Given the description of an element on the screen output the (x, y) to click on. 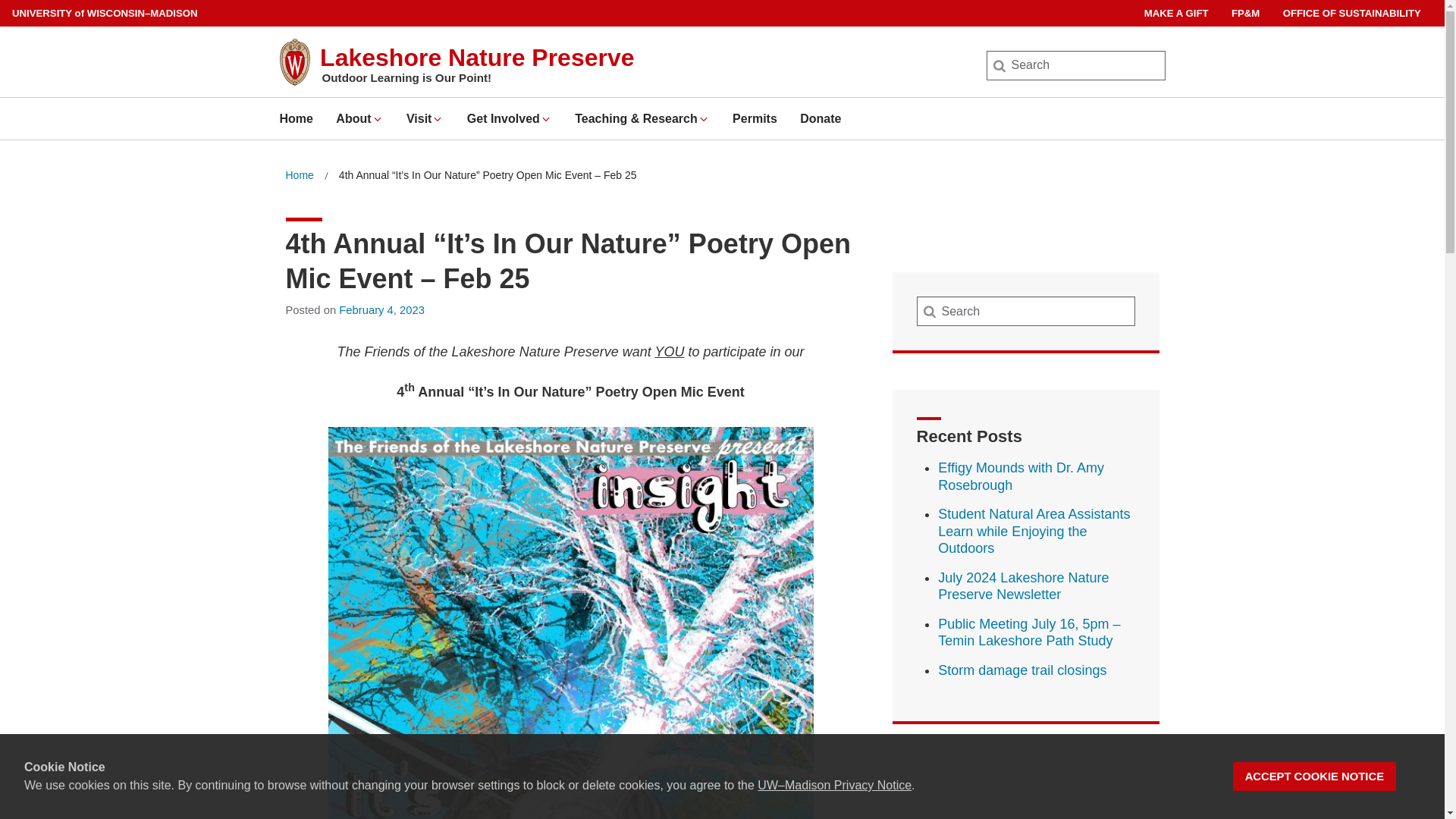
Search (37, 16)
Expand (703, 119)
Skip to main content (3, 3)
ACCEPT COOKIE NOTICE (1314, 776)
Expand (545, 119)
Home (299, 175)
Expand (377, 119)
Visit Expand (425, 118)
Expand (437, 119)
About Expand (359, 118)
